Given the description of an element on the screen output the (x, y) to click on. 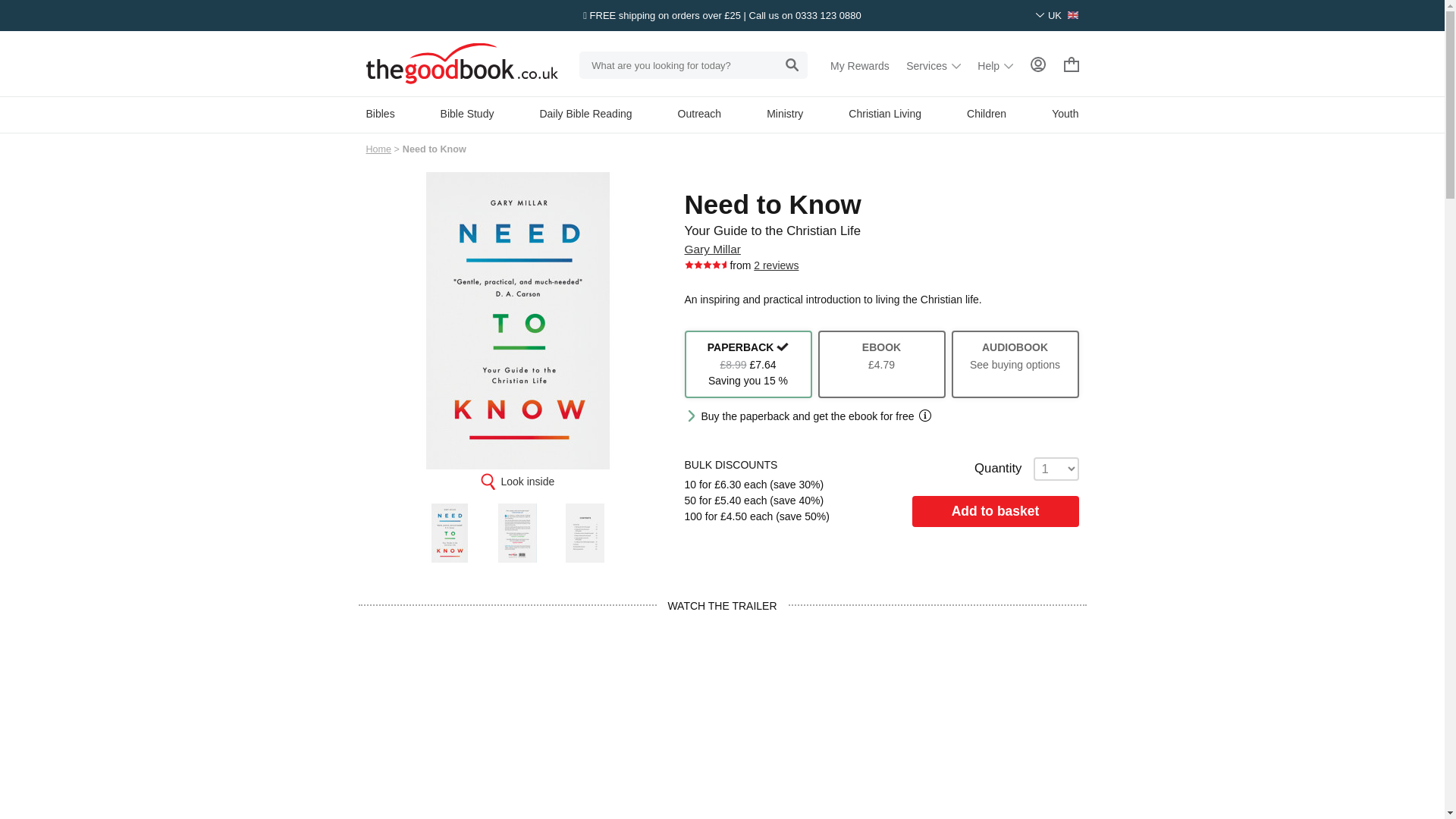
Help (994, 65)
UK (1056, 14)
Services (932, 65)
Bibles (379, 113)
My Rewards (859, 65)
Sign in (1037, 64)
Go to Home Page (378, 149)
